Given the description of an element on the screen output the (x, y) to click on. 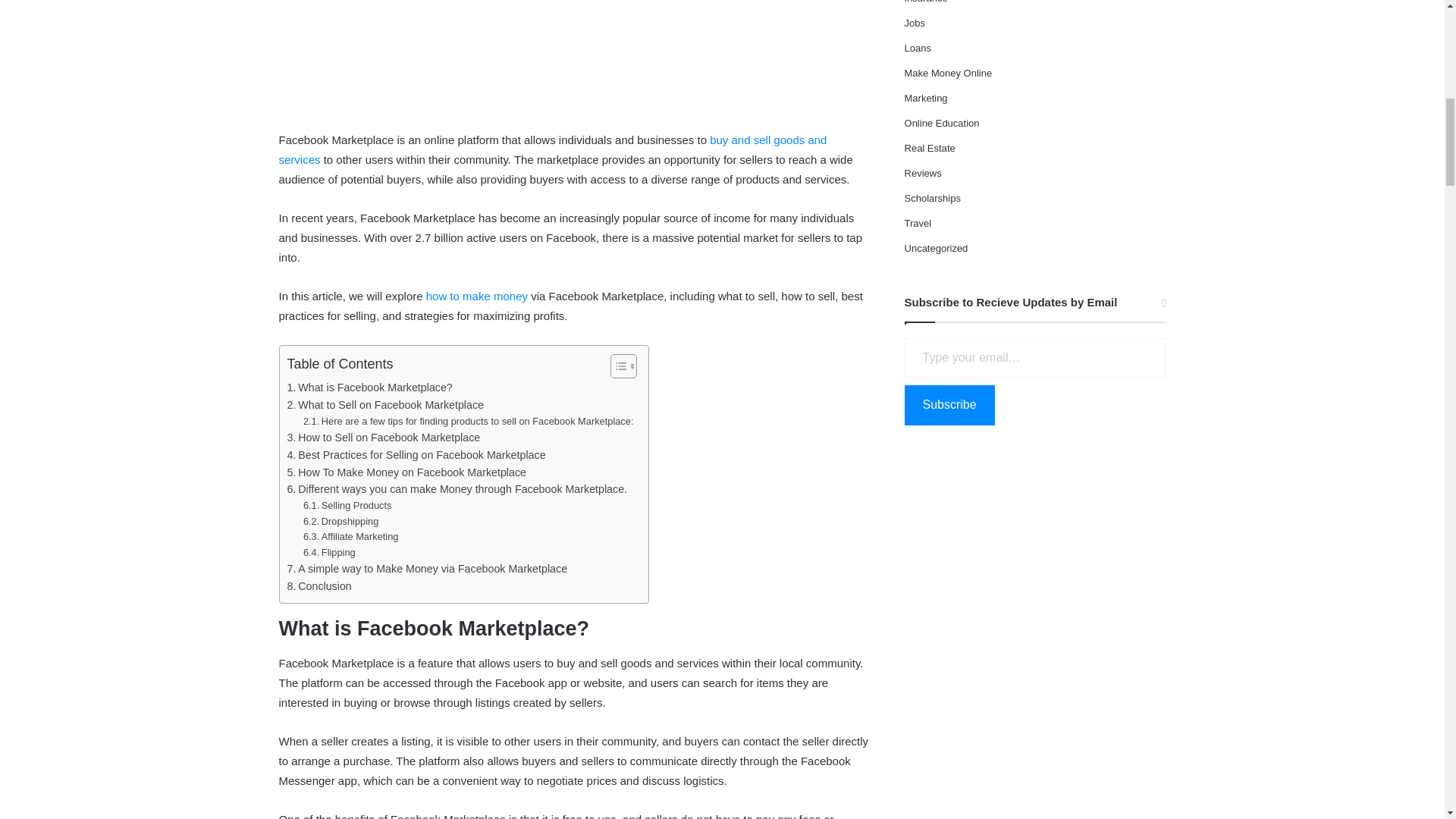
Best Practices for Selling on Facebook Marketplace (415, 455)
Best Practices for Selling on Facebook Marketplace (415, 455)
Flipping (328, 553)
How To Make Money on Facebook Marketplace (405, 472)
Advertisement (574, 62)
Dropshipping (340, 521)
How to Sell on Facebook Marketplace (383, 437)
Selling Products (346, 505)
buy and sell goods and services (553, 149)
Dropshipping (340, 521)
Conclusion (318, 586)
What is Facebook Marketplace? (368, 387)
How to Sell on Facebook Marketplace (383, 437)
